Given the description of an element on the screen output the (x, y) to click on. 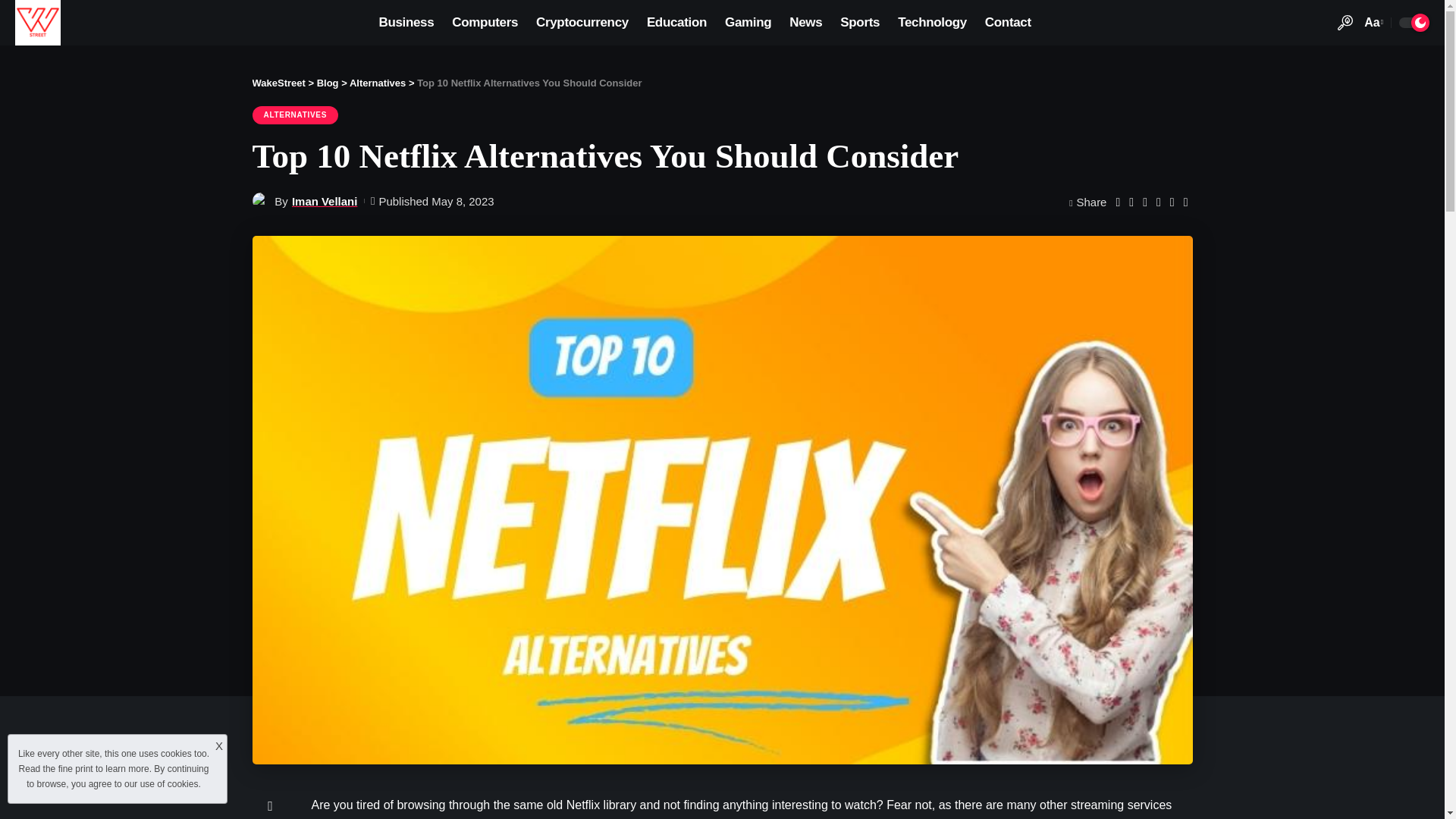
Sports (859, 22)
WakeStreet (37, 22)
Technology (931, 22)
Cryptocurrency (582, 22)
Go to the Alternatives Category archives. (377, 82)
Go to WakeStreet. (277, 82)
Computers (484, 22)
News (805, 22)
Go to Blog. (328, 82)
Blog (328, 82)
